Given the description of an element on the screen output the (x, y) to click on. 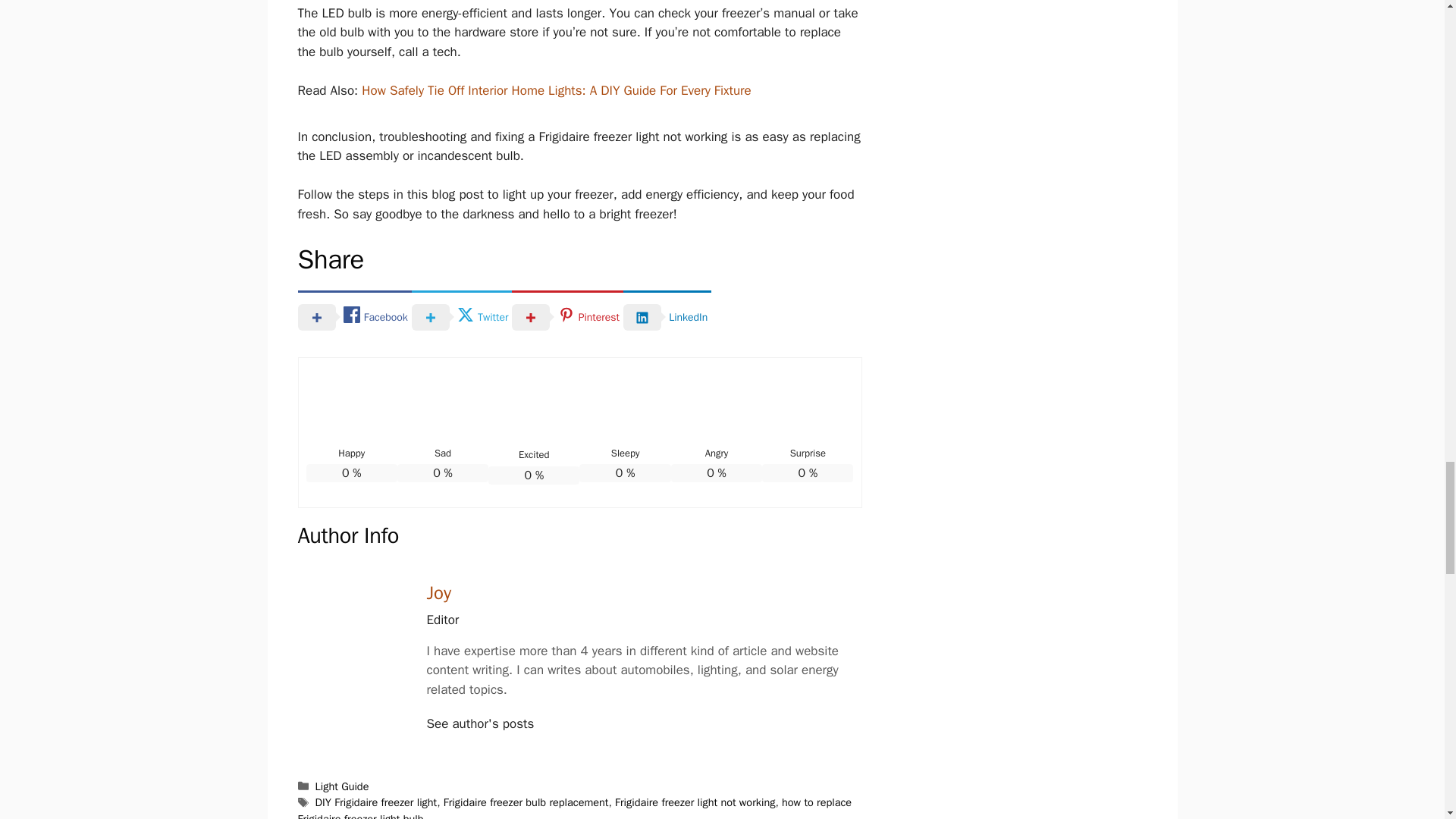
Twitter (462, 316)
Pinterest (567, 316)
Facebook (353, 316)
LinkedIn (667, 316)
